Given the description of an element on the screen output the (x, y) to click on. 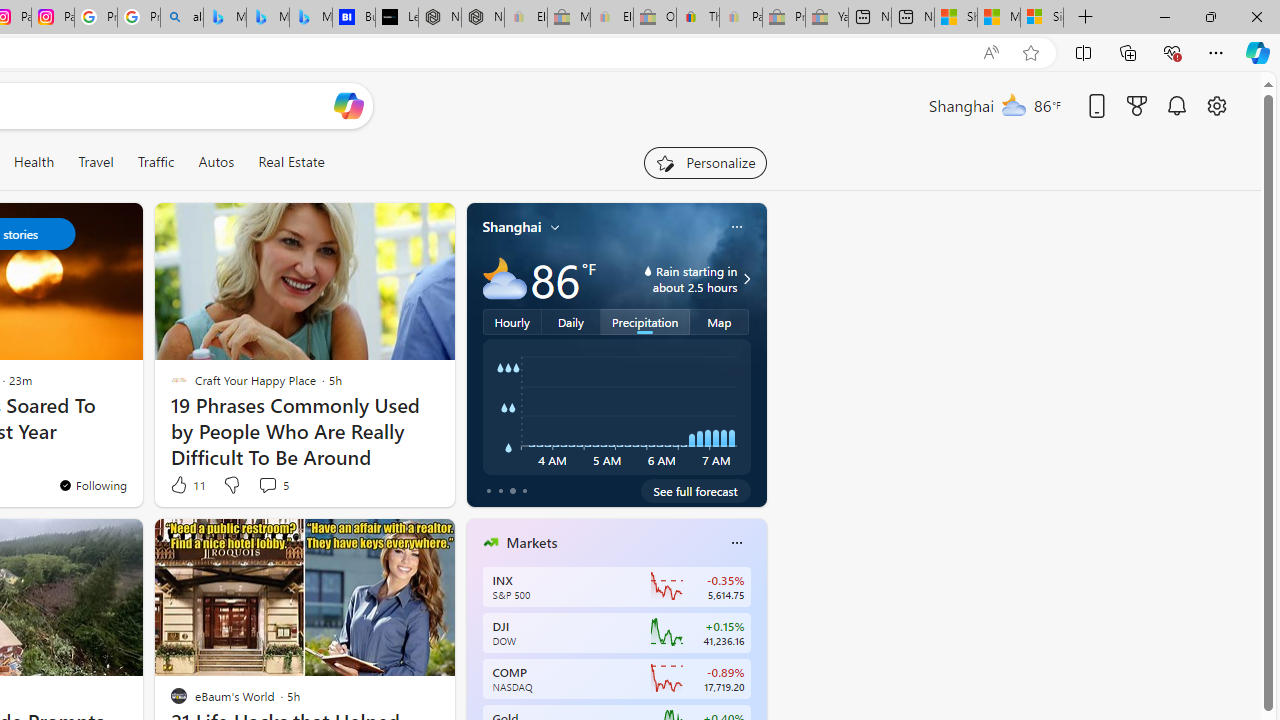
Payments Terms of Use | eBay.com - Sleeping (740, 17)
Mostly cloudy (504, 278)
See full forecast (695, 490)
My location (555, 227)
tab-3 (524, 490)
This story is trending (393, 490)
